Given the description of an element on the screen output the (x, y) to click on. 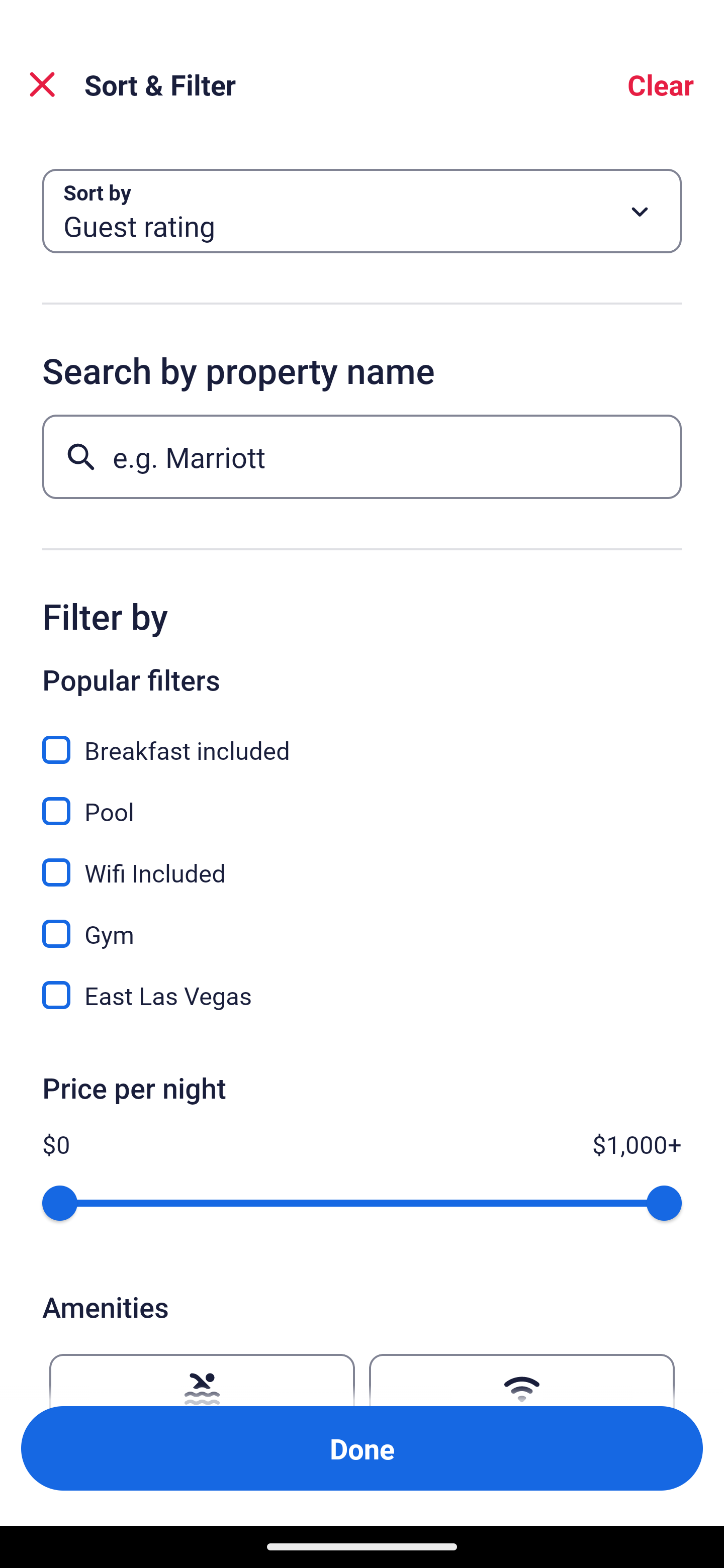
Close Sort and Filter (42, 84)
Clear (660, 84)
Sort by Button Guest rating (361, 211)
e.g. Marriott Button (361, 455)
Breakfast included, Breakfast included (361, 738)
Pool, Pool (361, 800)
Wifi Included, Wifi Included (361, 861)
Gym, Gym (361, 922)
East Las Vegas, East Las Vegas (361, 995)
Apply and close Sort and Filter Done (361, 1448)
